Given the description of an element on the screen output the (x, y) to click on. 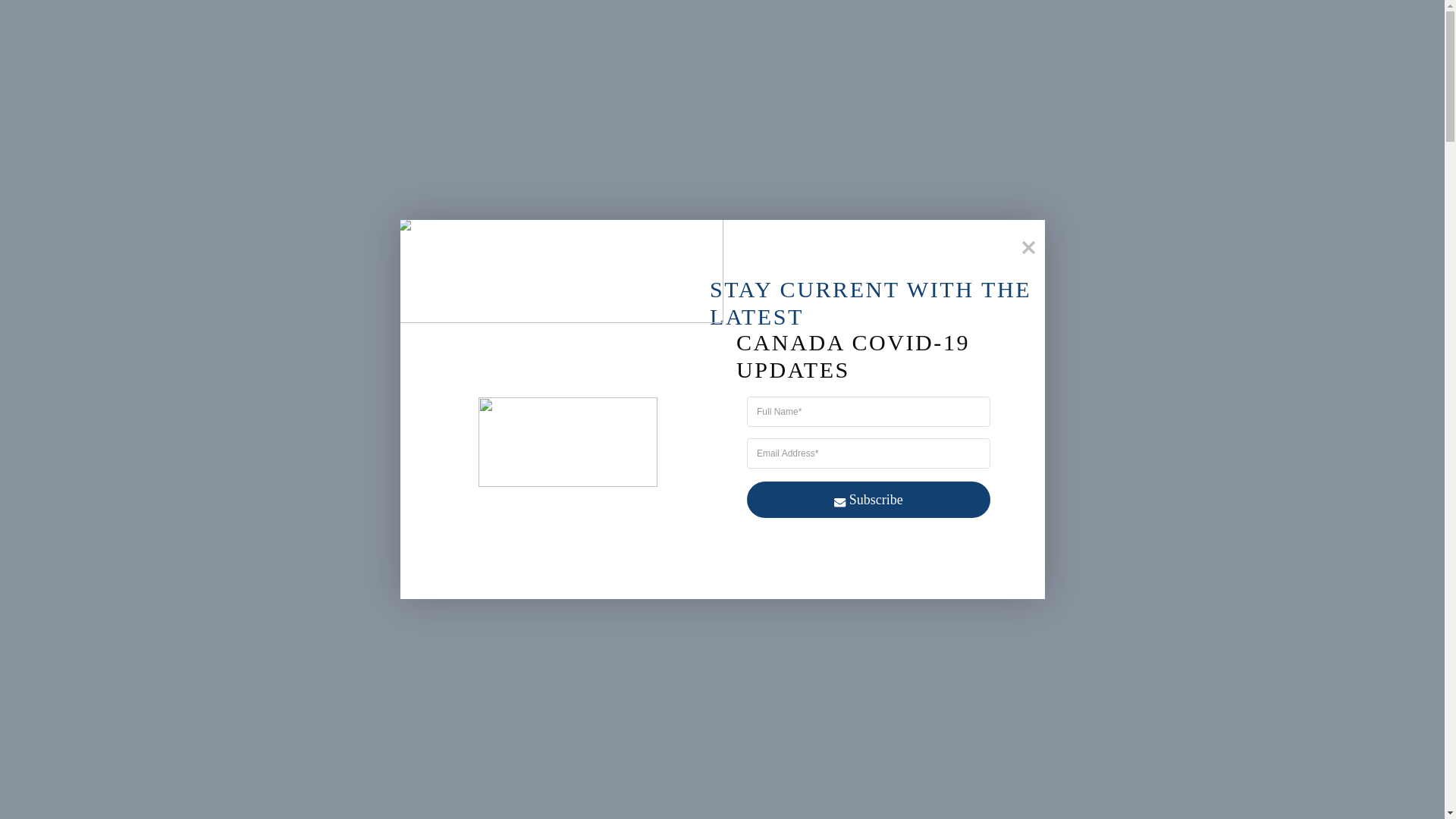
1 (855) 256 8552 Element type: text (1044, 36)
LOCATIONS Element type: text (461, 36)
GET A QUOTE Element type: text (1232, 36)
SERVICES Element type: text (380, 36)
Subscribe Element type: text (867, 499)
FAQ Element type: text (526, 36)
ABOUT Element type: text (577, 36)
CONTACT Element type: text (645, 36)
CAREER Element type: text (715, 36)
WHO WE SERVE Element type: text (290, 36)
BOOK CONSULTATION Element type: text (413, 410)
